Given the description of an element on the screen output the (x, y) to click on. 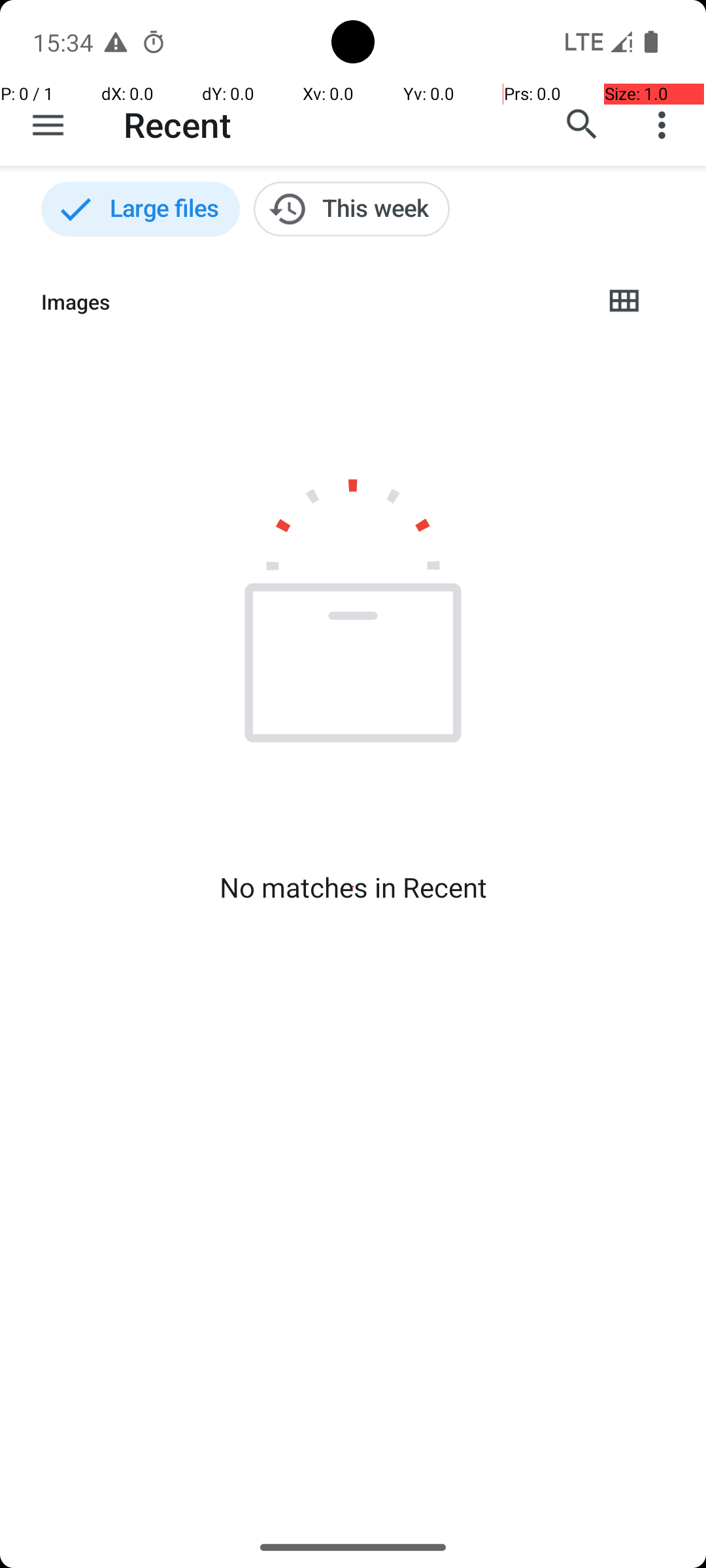
No matches in Recent Element type: android.widget.TextView (353, 886)
